Given the description of an element on the screen output the (x, y) to click on. 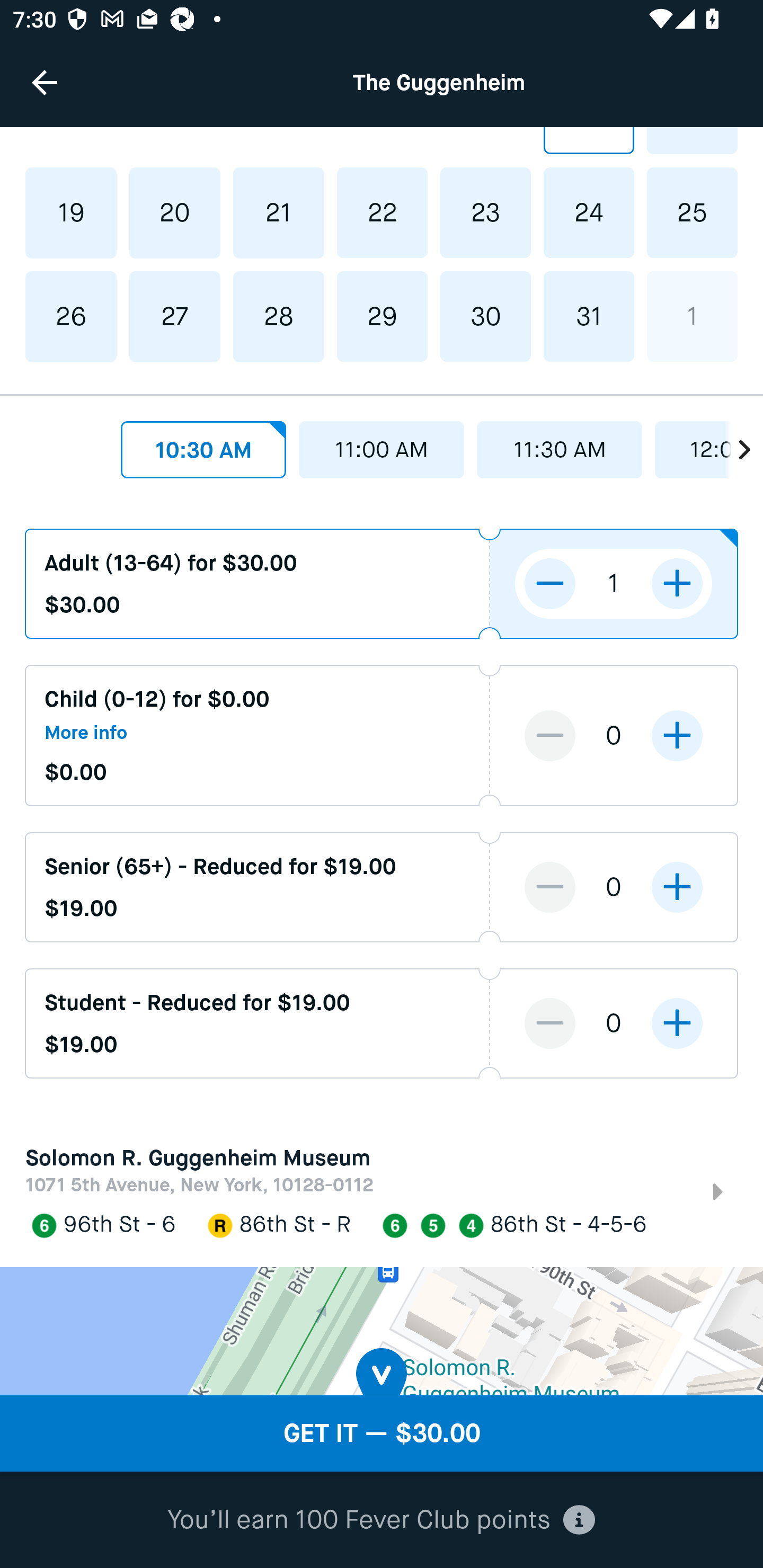
Navigate up (44, 82)
19 (70, 212)
20 (174, 212)
21 (278, 212)
22 (382, 212)
23 (485, 212)
24 (588, 212)
25 (692, 212)
26 (70, 316)
27 (174, 316)
28 (278, 316)
29 (382, 316)
30 (485, 316)
31 (588, 316)
1 (692, 316)
10:30 AM (203, 449)
11:00 AM (381, 449)
11:30 AM (559, 449)
decrease (549, 583)
increase (677, 583)
More info (85, 732)
decrease (549, 735)
increase (677, 735)
decrease (549, 887)
increase (677, 887)
decrease (549, 1022)
increase (677, 1022)
Google Map Map Marker (381, 1330)
GET IT — $30.00 (381, 1433)
You’ll earn 100 Fever Club points (381, 1519)
